Given the description of an element on the screen output the (x, y) to click on. 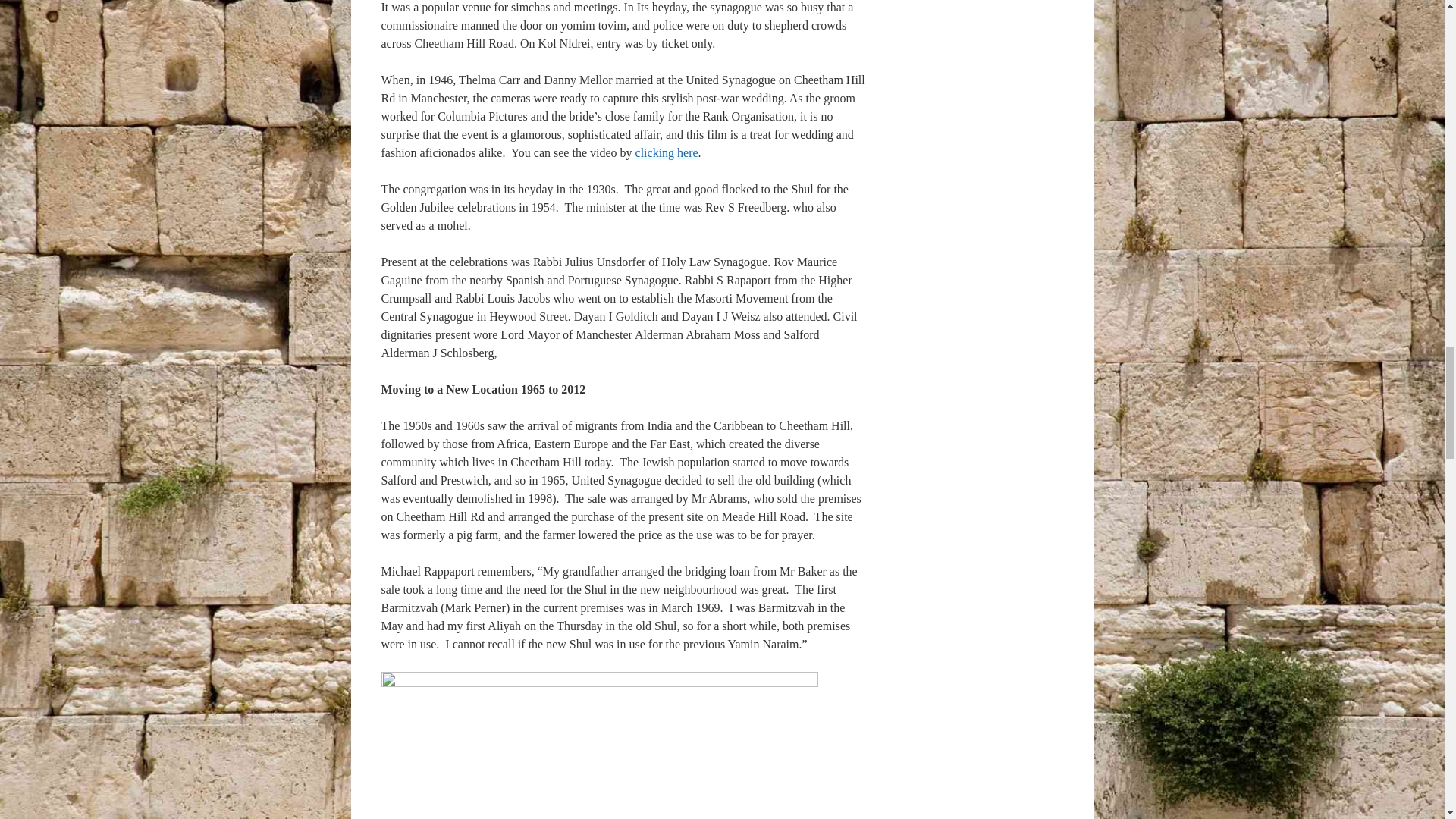
clicking here (666, 152)
